Given the description of an element on the screen output the (x, y) to click on. 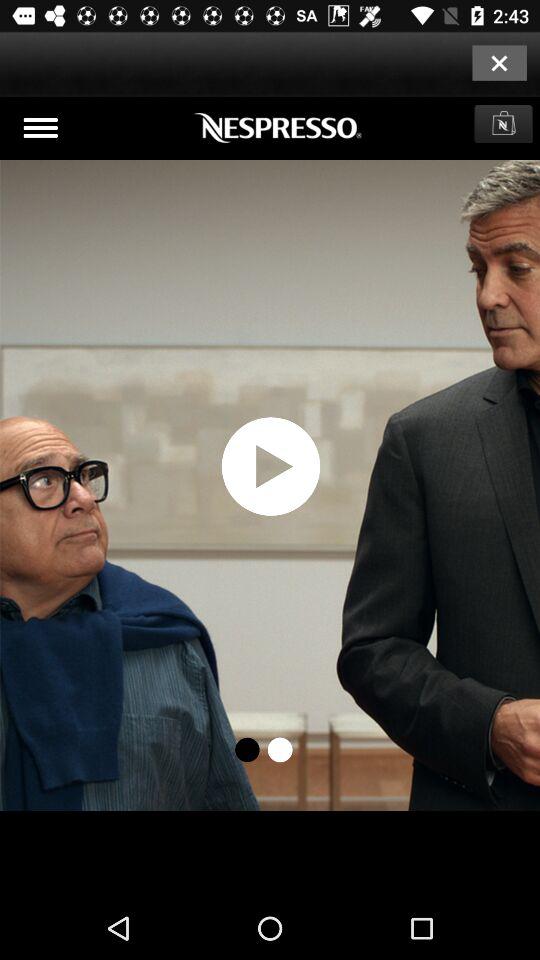
closing option (499, 62)
